Given the description of an element on the screen output the (x, y) to click on. 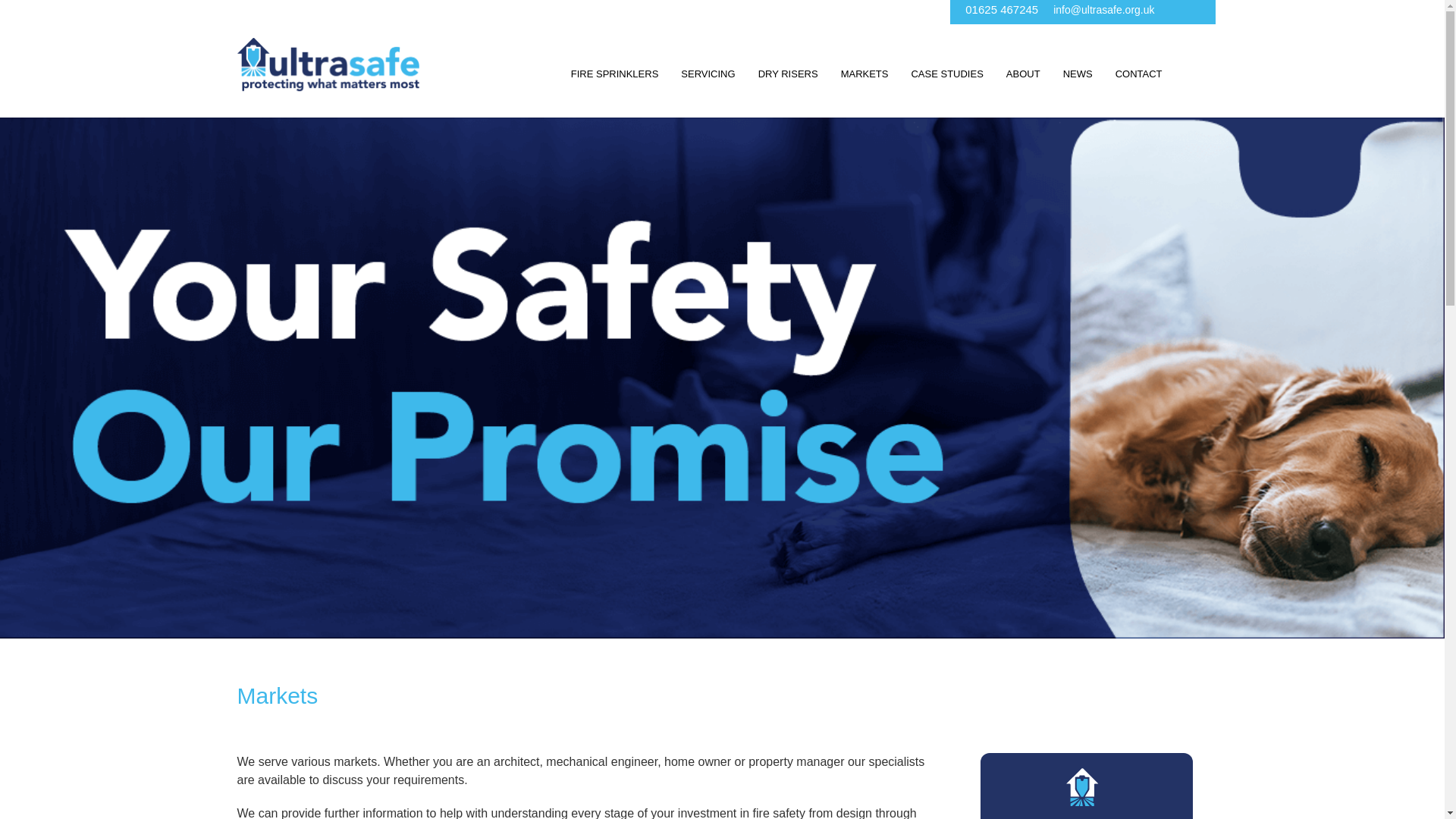
MARKETS (864, 73)
FIRE SPRINKLERS (614, 73)
DRY RISERS (787, 73)
SERVICING (707, 73)
01625 467245 (1001, 9)
CASE STUDIES (946, 73)
